Given the description of an element on the screen output the (x, y) to click on. 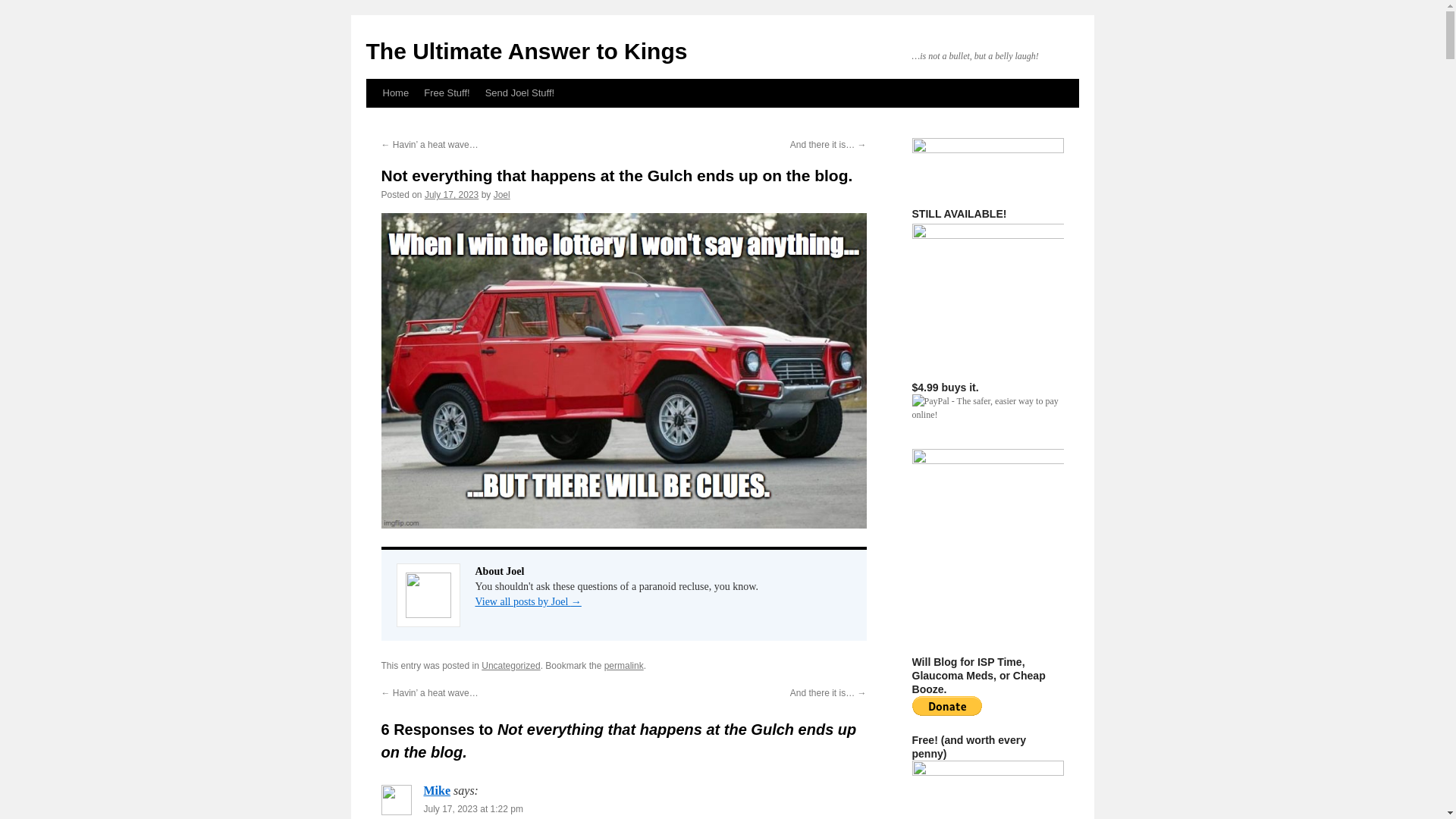
July 17, 2023 (452, 194)
Joel (502, 194)
Mike (436, 789)
View all posts by Joel (502, 194)
Home (395, 92)
12:22 pm (452, 194)
Uncategorized (510, 665)
July 17, 2023 at 1:22 pm (472, 808)
Free Stuff! (446, 92)
permalink (623, 665)
The Ultimate Answer to Kings (526, 50)
Send Joel Stuff! (519, 92)
